Given the description of an element on the screen output the (x, y) to click on. 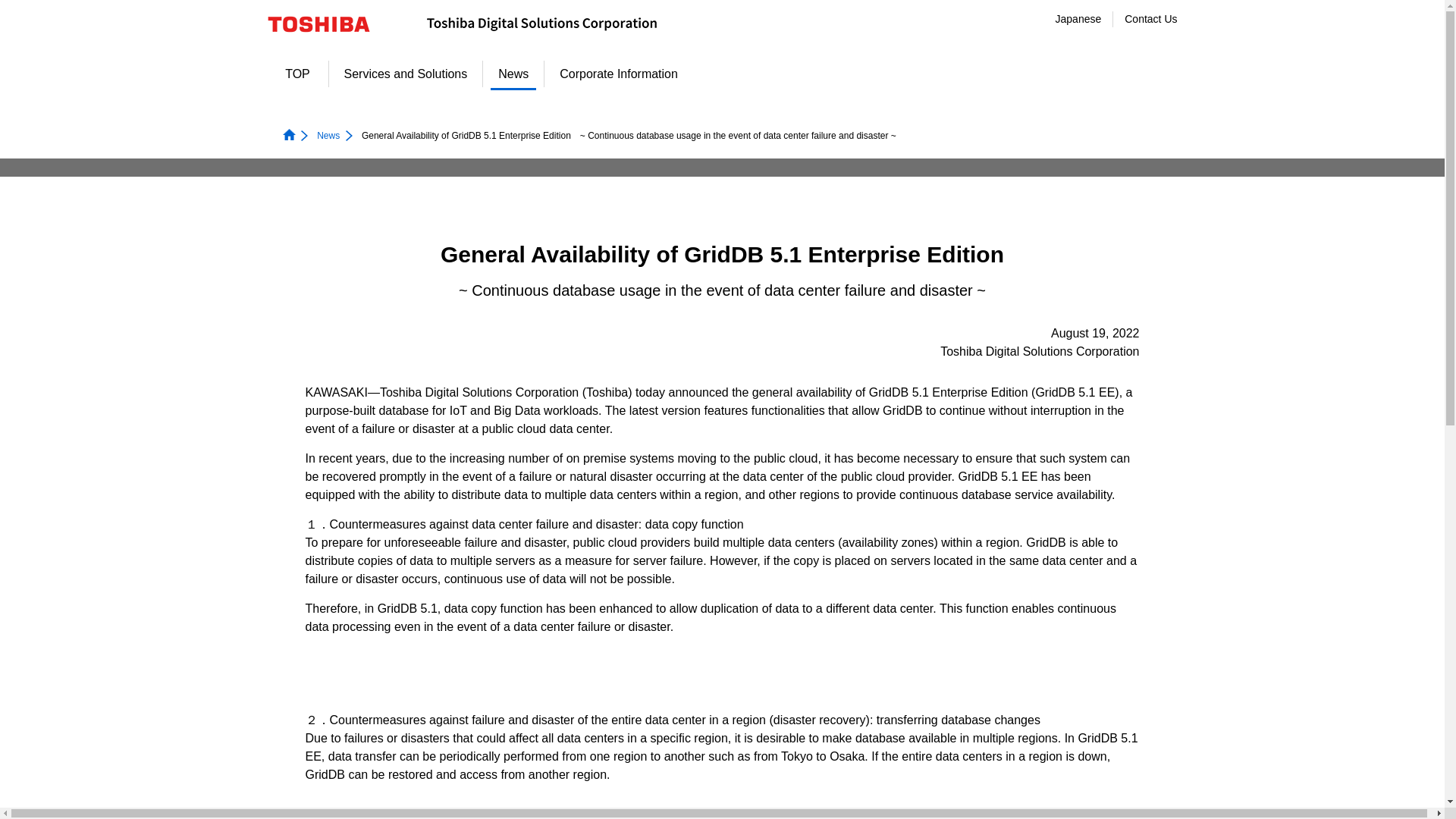
TOP (297, 73)
Toshiba Global Top Page (327, 24)
Contact Us (1150, 19)
TOP (297, 73)
News (512, 73)
Contact Us (1150, 19)
News (512, 73)
Corporate Information (618, 73)
Japanese (1078, 19)
Services and Solutions (406, 73)
